Given the description of an element on the screen output the (x, y) to click on. 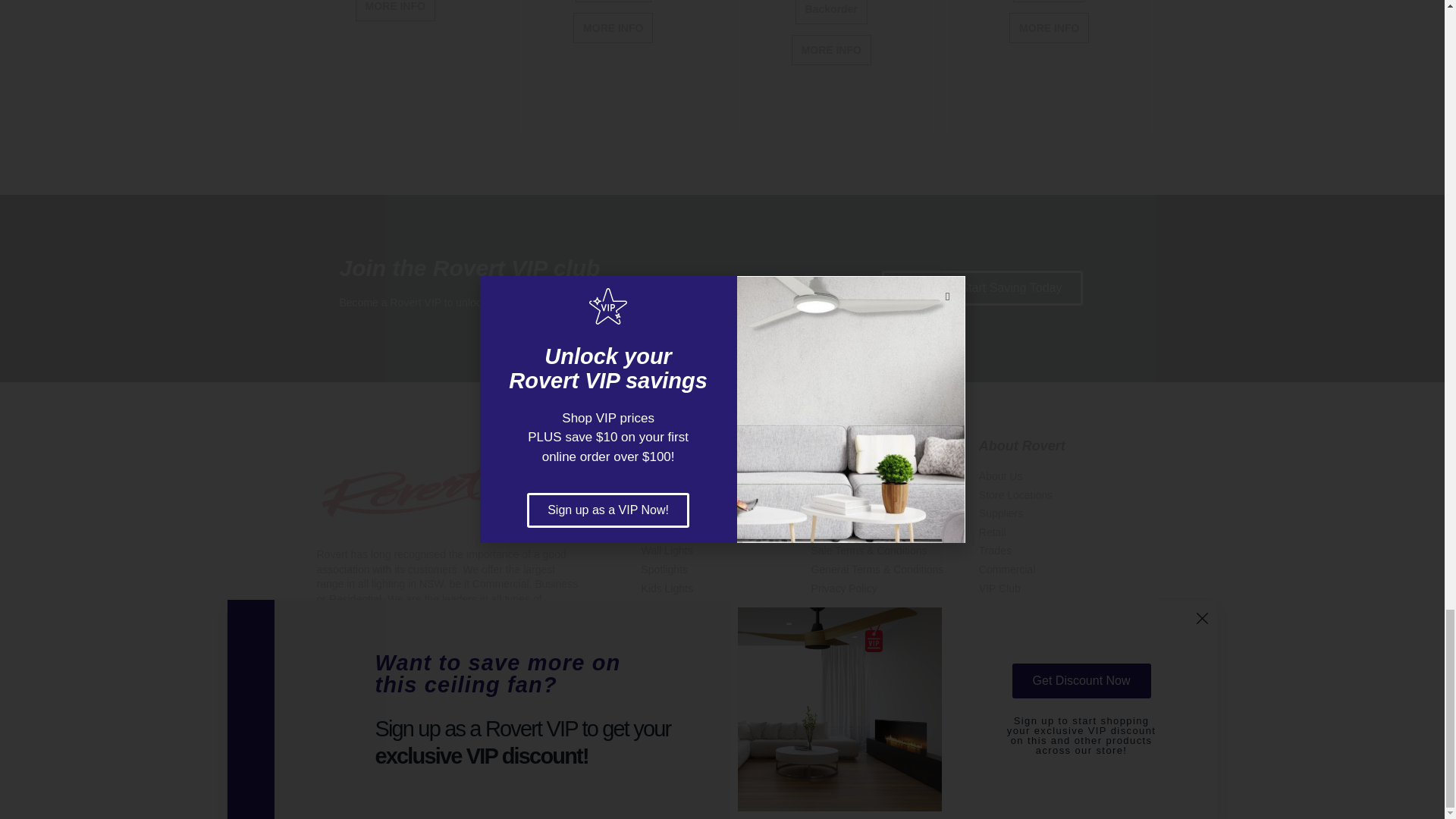
web design newcastle (522, 737)
